Given the description of an element on the screen output the (x, y) to click on. 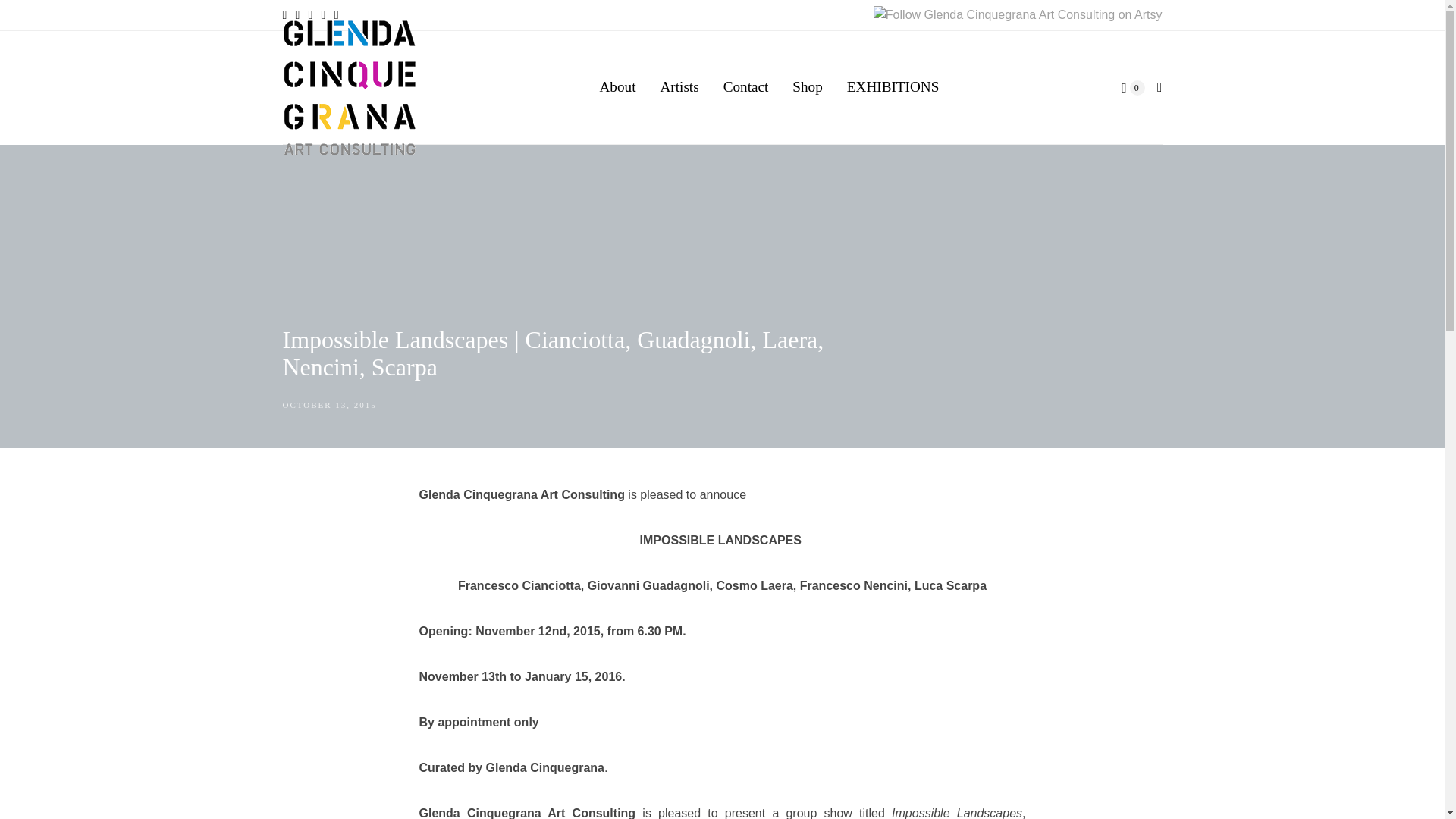
View your shopping cart (1132, 87)
Follow Glenda Cinquegrana Art Consulting on Artsy (1017, 15)
0 (1132, 87)
OCTOBER 13, 2015 (328, 404)
